Given the description of an element on the screen output the (x, y) to click on. 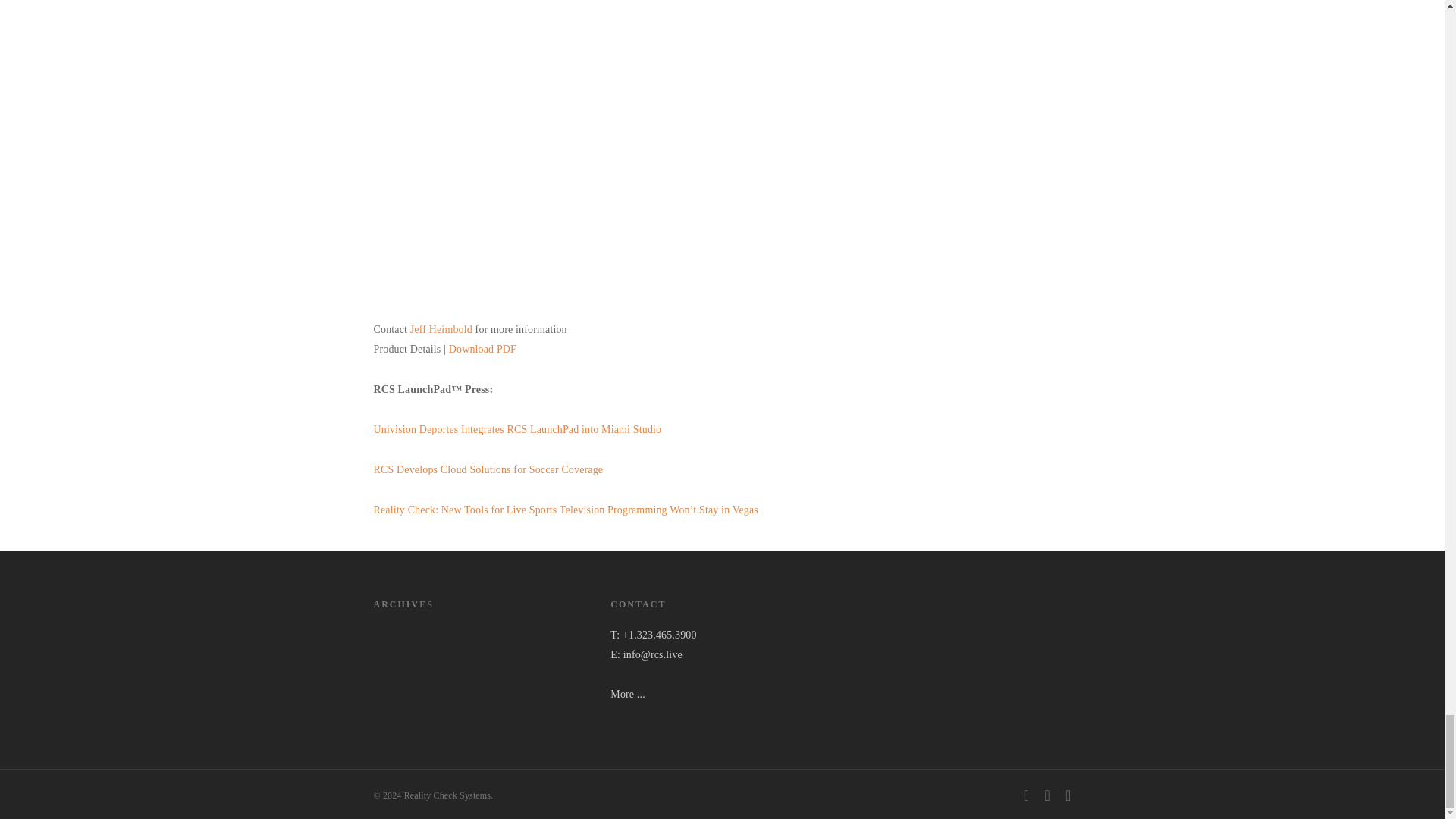
Download PDF (482, 348)
RCS Develops Cloud Solutions for Soccer Coverage (487, 469)
More ... (627, 694)
RCS Develops Cloud Solutions for Soccer Coverage (487, 469)
Jeff Heimbold (440, 328)
